Given the description of an element on the screen output the (x, y) to click on. 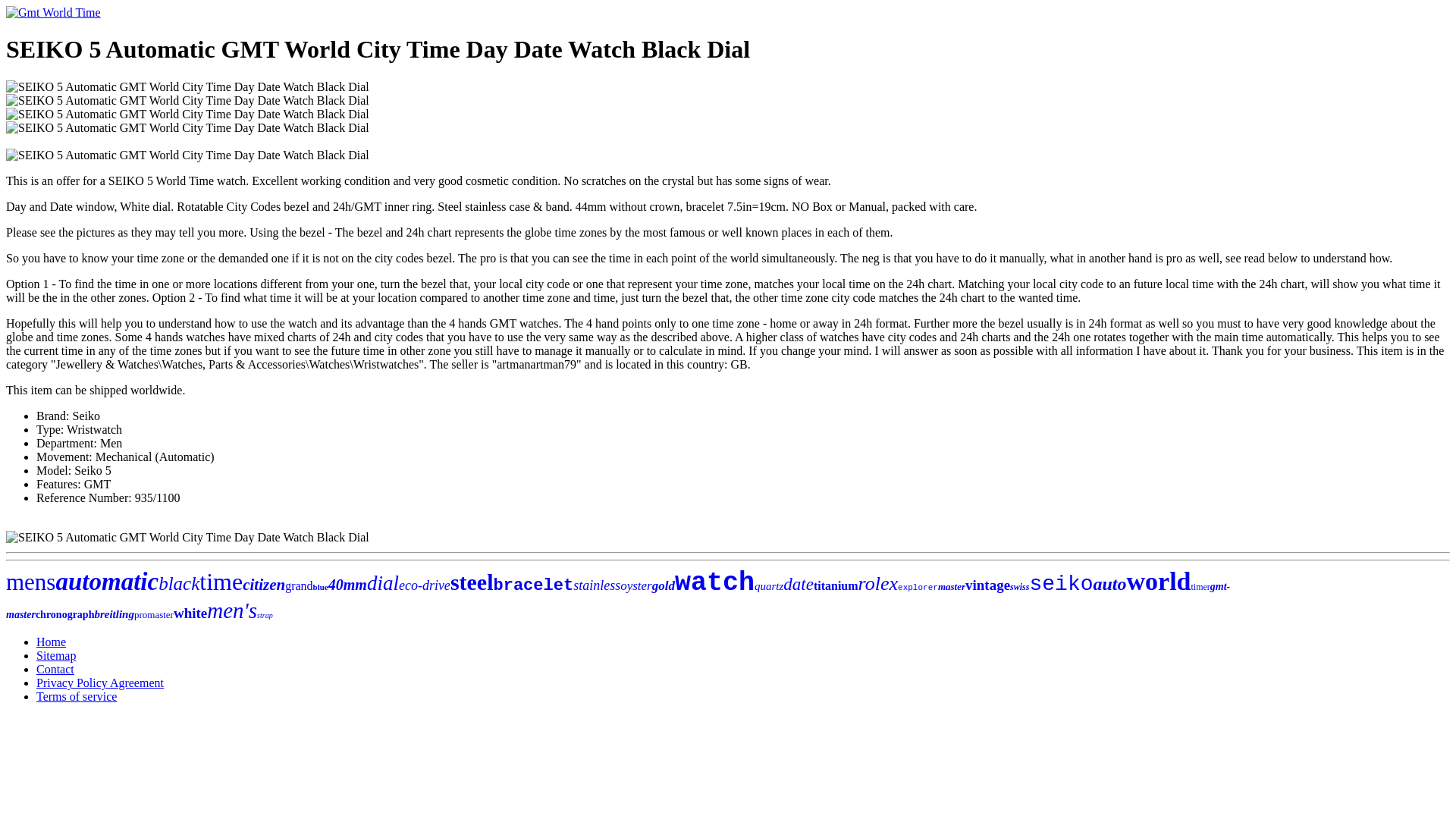
auto (1109, 583)
grand (299, 585)
vintage (987, 584)
time (221, 581)
citizen (264, 584)
master (951, 586)
blue (321, 586)
explorer (917, 587)
steel (471, 581)
rolex (878, 583)
dial (382, 582)
stainless (596, 585)
